Given the description of an element on the screen output the (x, y) to click on. 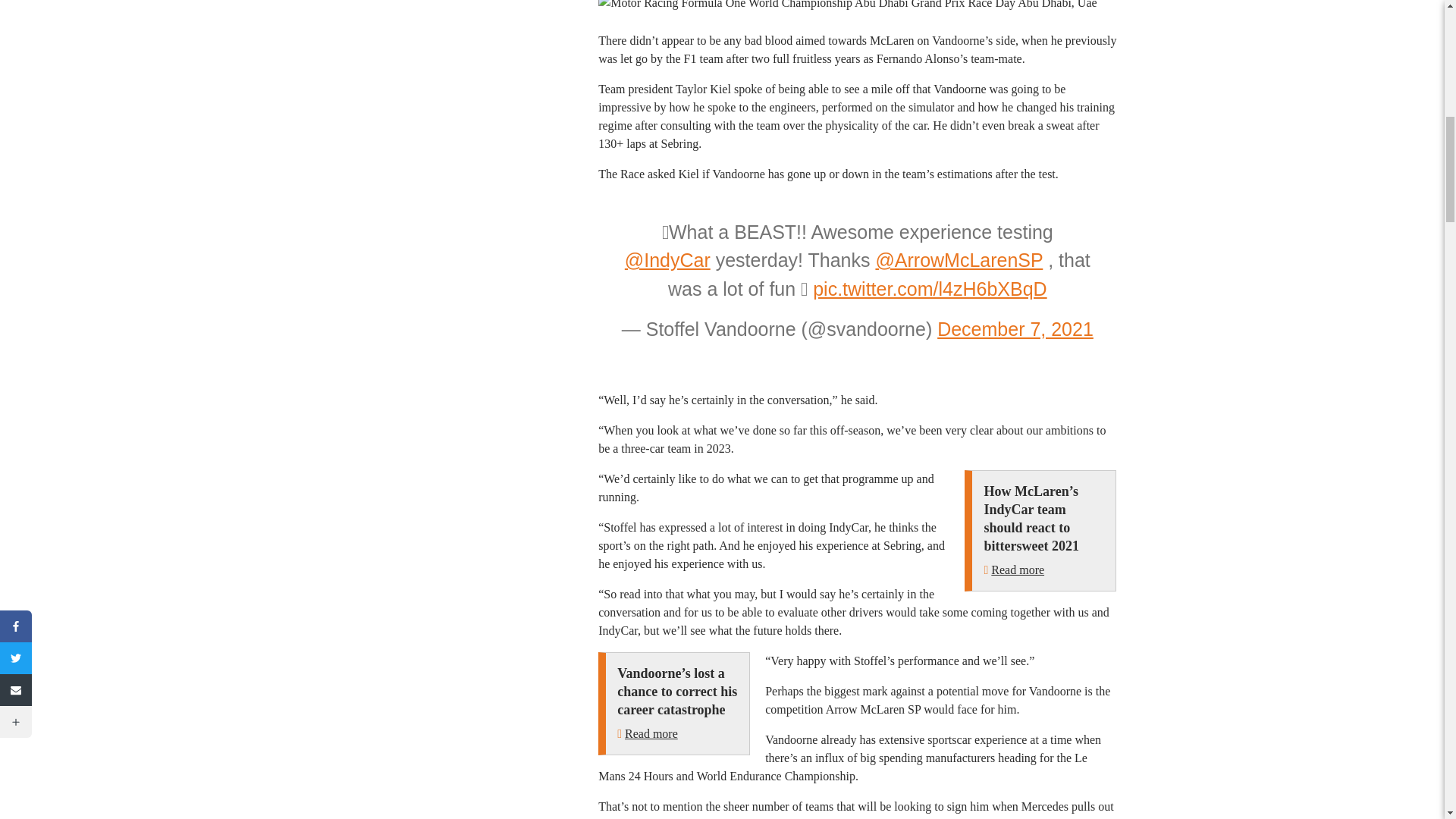
Read more (651, 733)
Read more (1017, 569)
December 7, 2021 (1015, 328)
